Given the description of an element on the screen output the (x, y) to click on. 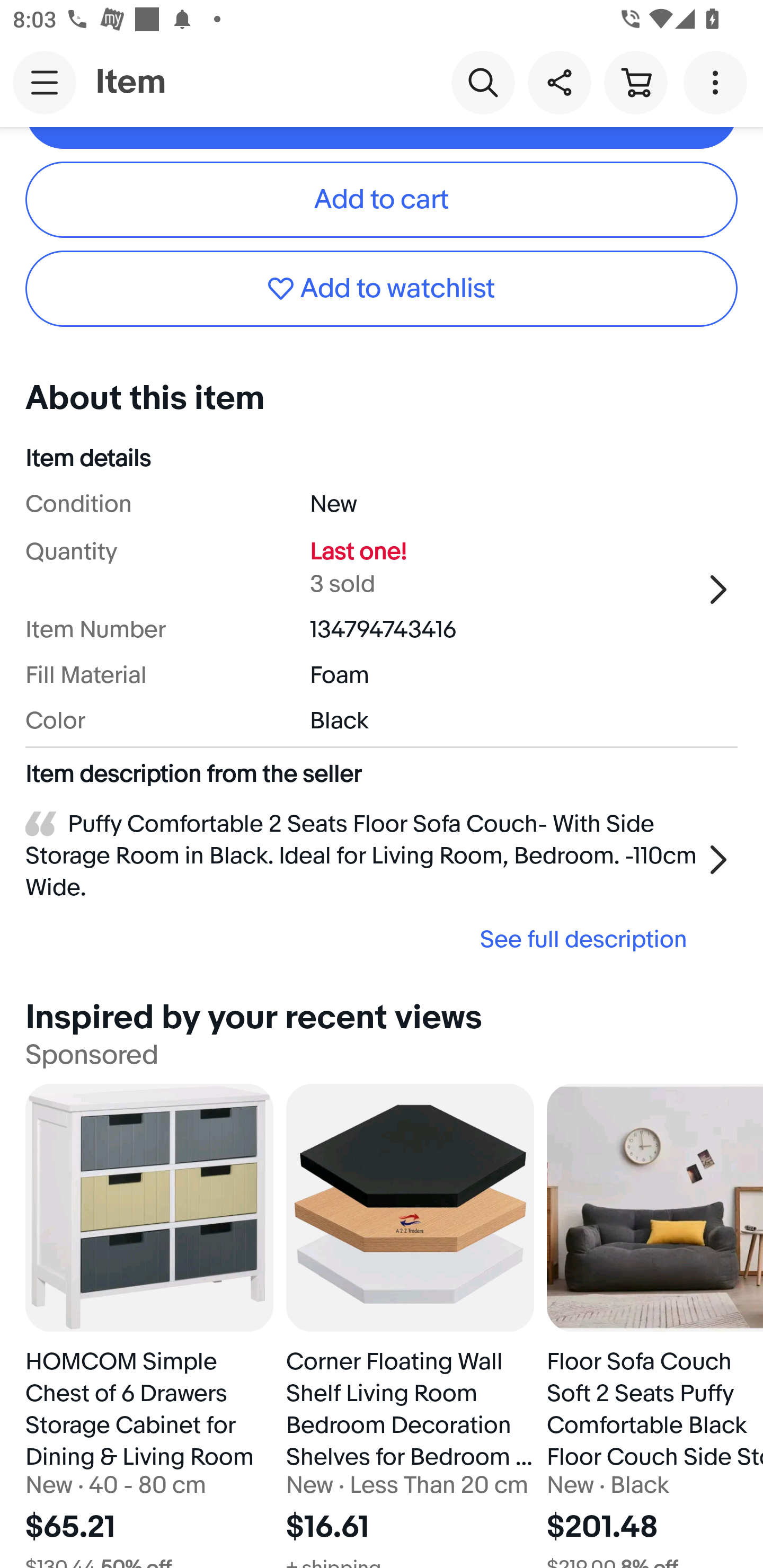
Main navigation, open (44, 82)
Search (482, 81)
Share this item (559, 81)
Cart button shopping cart (635, 81)
More options (718, 81)
Add to cart (381, 199)
Add to watchlist (381, 288)
See full description (362, 938)
